Given the description of an element on the screen output the (x, y) to click on. 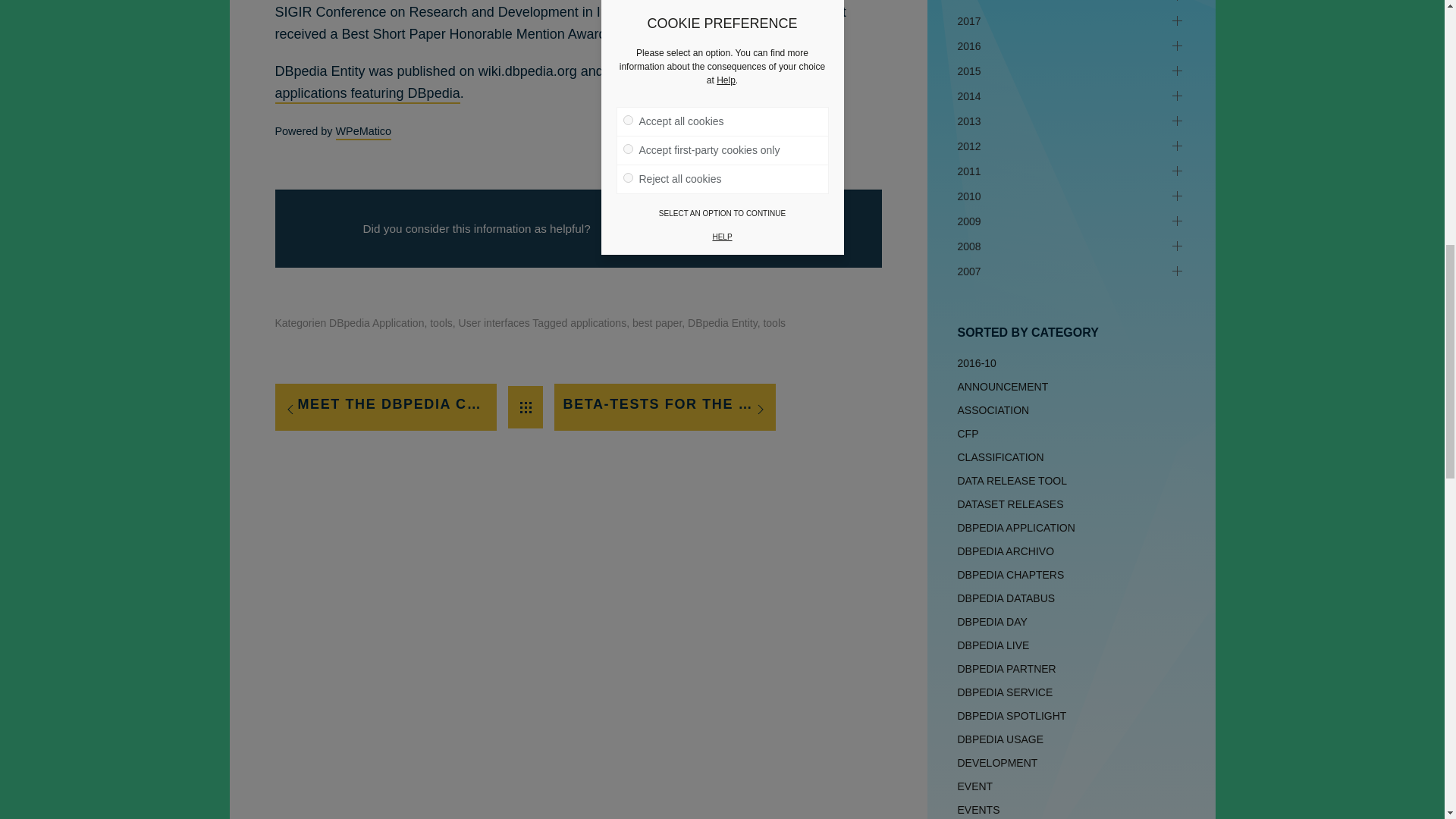
Meet the DBpedia Chatbot (385, 407)
Beta-tests for the DBpedia Databus commence (665, 407)
